Given the description of an element on the screen output the (x, y) to click on. 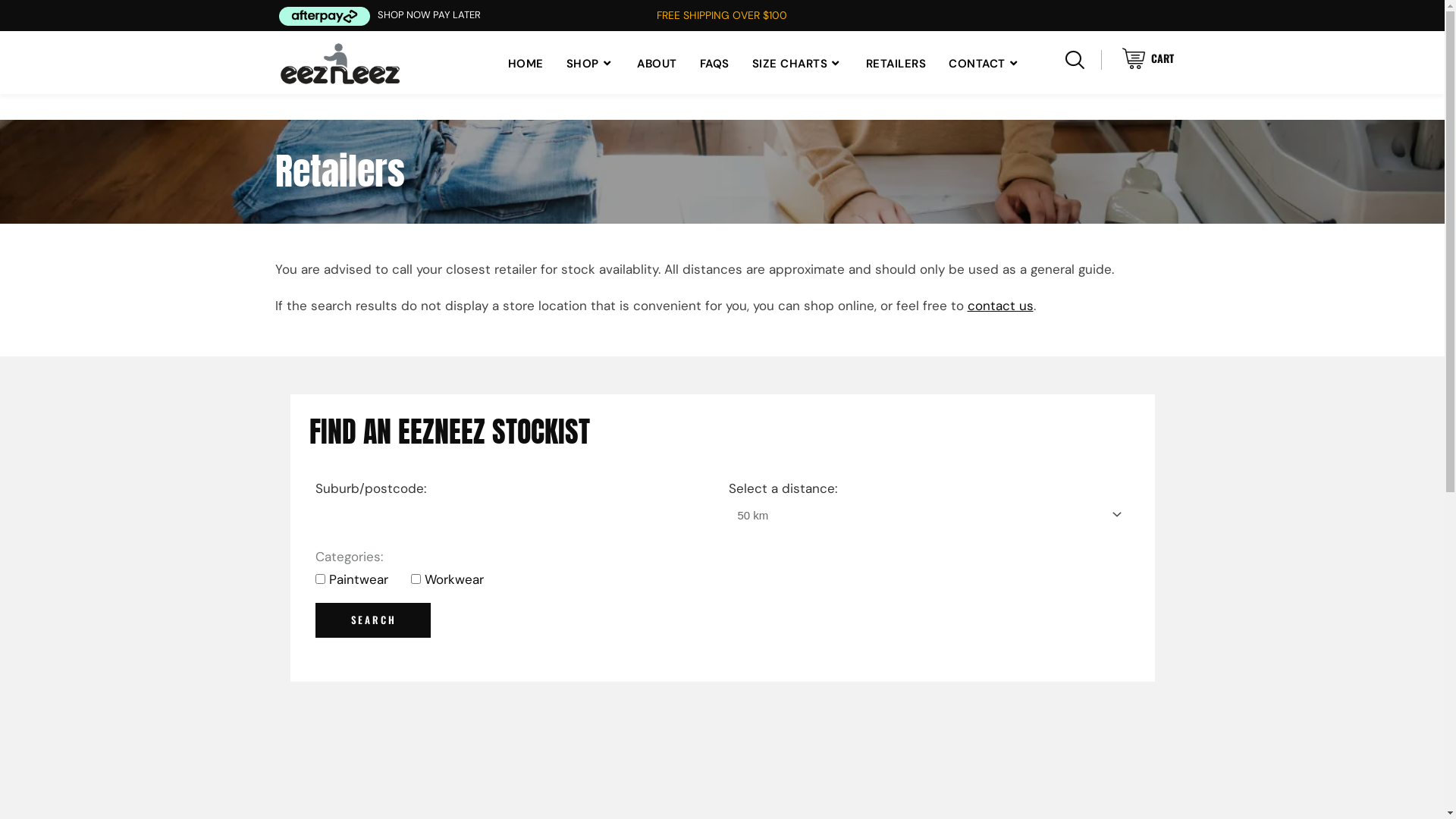
RETAILERS Element type: text (896, 63)
Search Element type: text (372, 619)
ABOUT Element type: text (656, 63)
CONTACT Element type: text (978, 63)
HOME Element type: text (531, 63)
contact us Element type: text (1000, 305)
SIZE CHARTS Element type: text (797, 63)
FAQS Element type: text (714, 63)
SHOP Element type: text (590, 63)
